Given the description of an element on the screen output the (x, y) to click on. 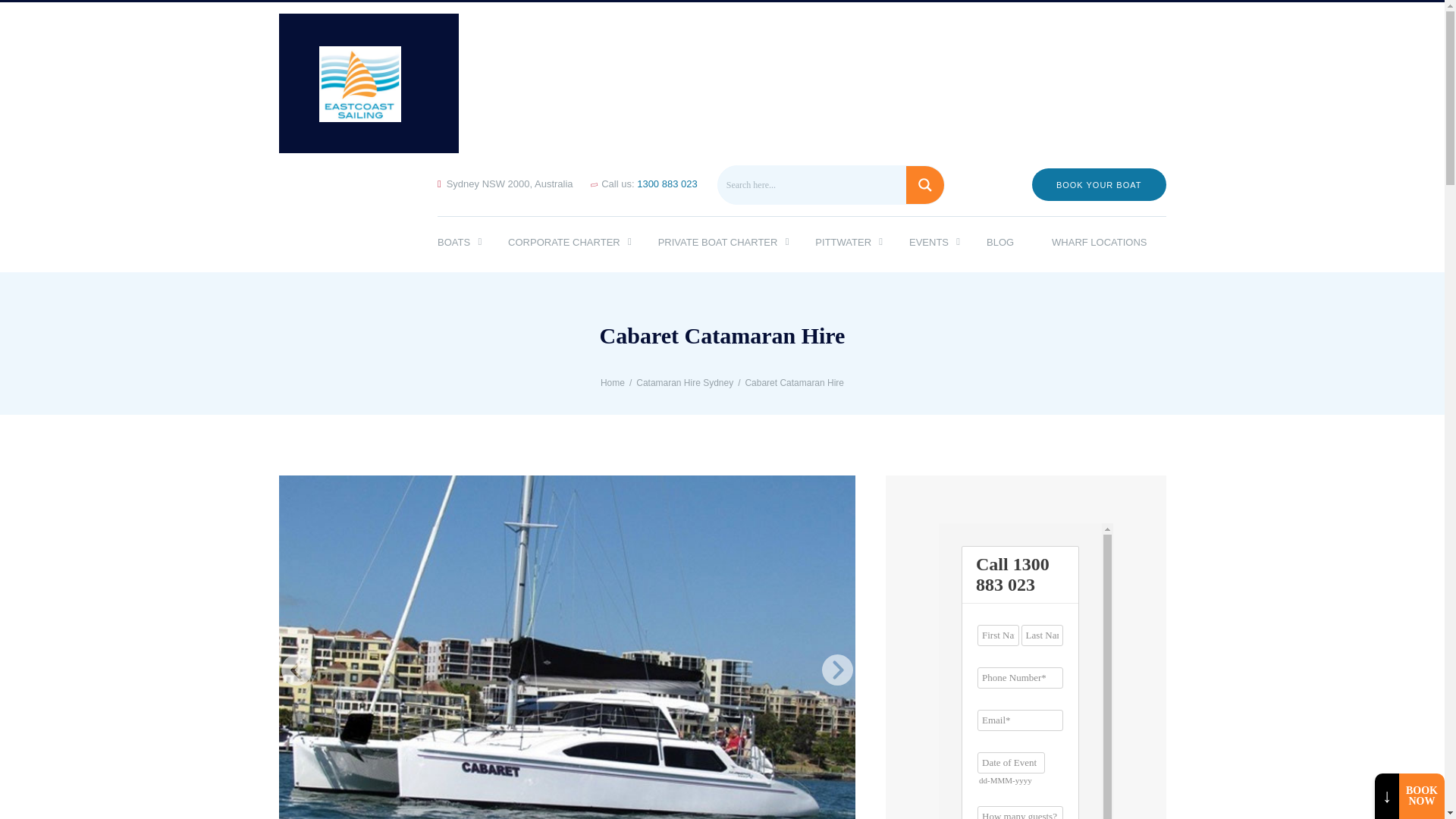
WHARF LOCATIONS (1099, 244)
BOATS (463, 244)
EVENTS (928, 244)
PRIVATE BOAT CHARTER (717, 244)
CORPORATE CHARTER (564, 244)
PITTWATER (842, 244)
1300 883 023 (667, 183)
BOOK YOUR BOAT (1099, 184)
BLOG (1000, 244)
